Given the description of an element on the screen output the (x, y) to click on. 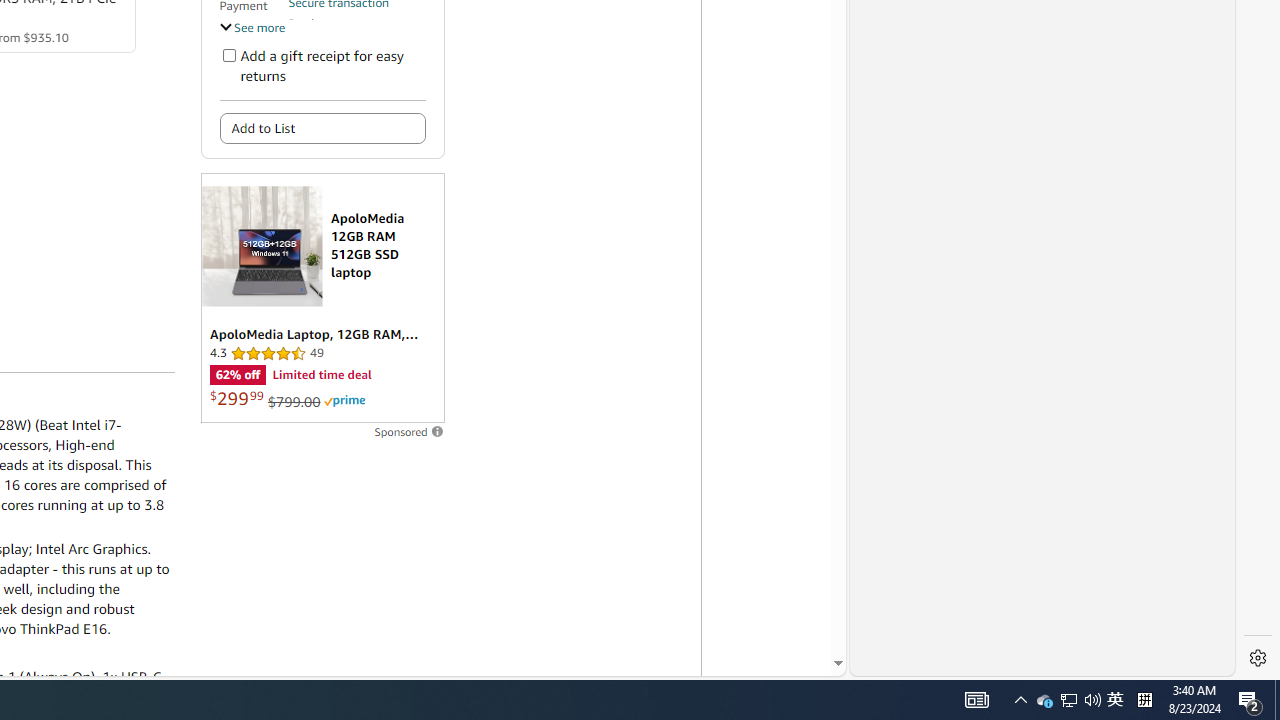
Add a gift receipt for easy returns (228, 54)
Sponsored ad (322, 297)
Product support included (357, 31)
Add to List (322, 128)
Prime (344, 400)
